Given the description of an element on the screen output the (x, y) to click on. 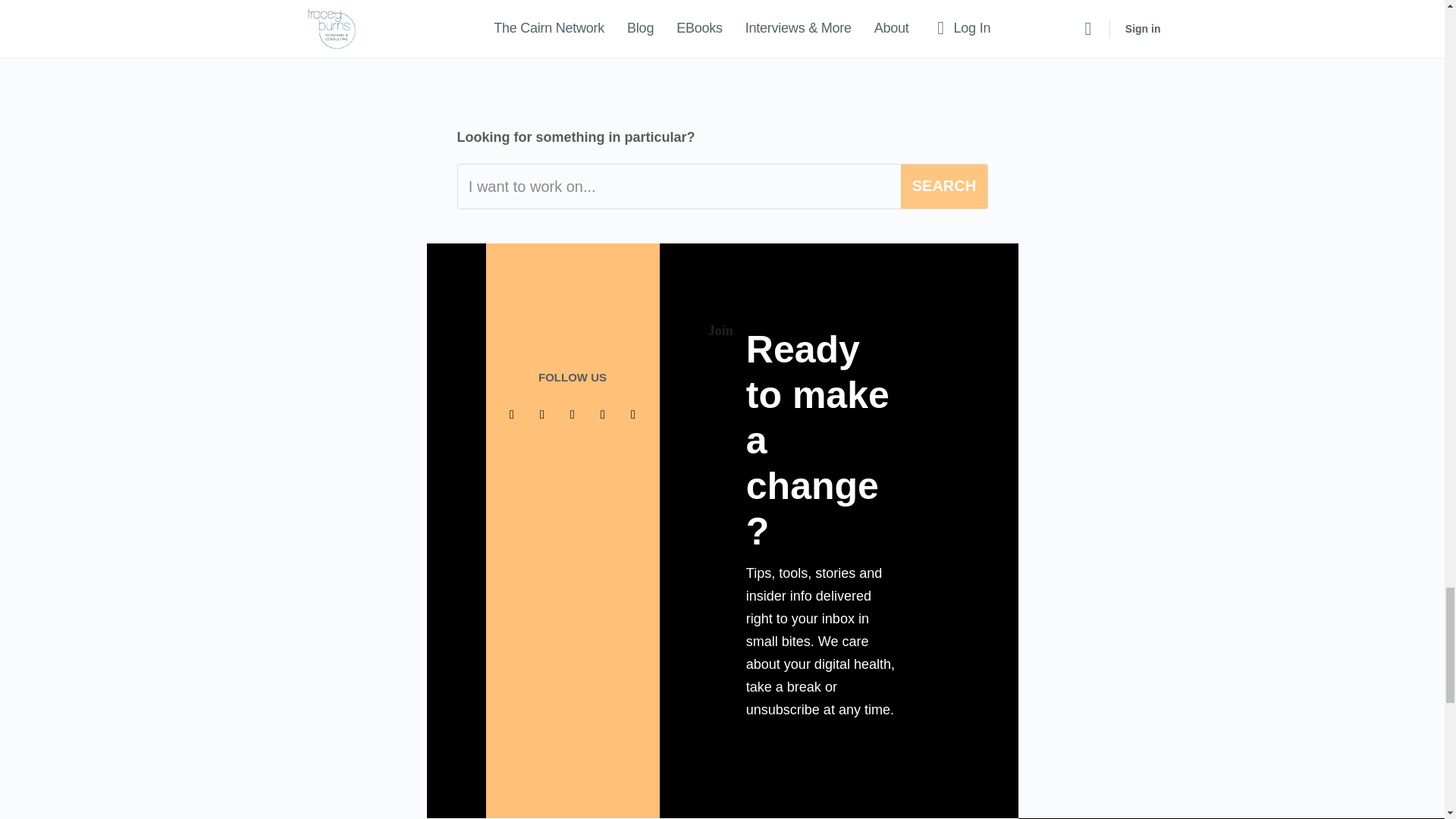
Follow on LinkedIn (572, 414)
Search (944, 185)
Search (944, 185)
Follow on Instagram (602, 414)
Follow on X (541, 414)
Follow on Facebook (511, 414)
